Given the description of an element on the screen output the (x, y) to click on. 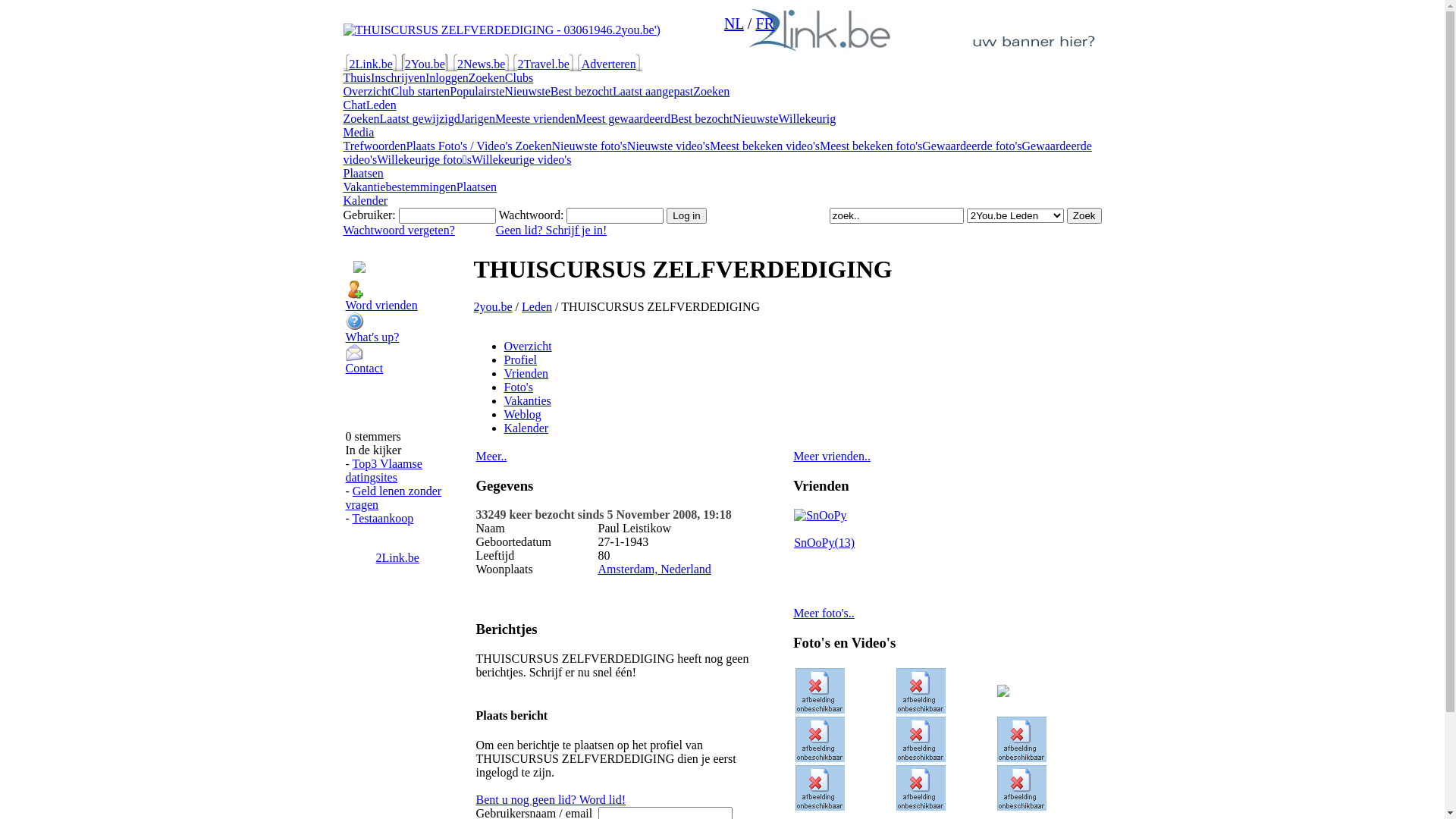
Clubs Element type: text (519, 77)
Overzicht Element type: text (527, 345)
SnOoPy(13) Element type: text (823, 542)
Best bezocht Element type: text (581, 90)
Overzicht Element type: text (366, 90)
Kalender Element type: text (364, 200)
Chat Element type: text (353, 104)
Meeste vrienden Element type: text (535, 118)
Wachtwoord vergeten? Element type: text (398, 229)
Weblog Element type: text (521, 413)
Jarigen Element type: text (477, 118)
Leden Element type: text (381, 104)
Geld lenen zonder vragen Element type: text (393, 497)
Willekeurige video's Element type: text (521, 159)
What's up? Element type: text (407, 342)
Leden Element type: text (536, 306)
Geen lid? Schrijf je in! Element type: text (551, 229)
Thuis Element type: text (356, 77)
Best bezocht Element type: text (701, 118)
Zoek Element type: text (1083, 215)
Amsterdam, Nederland Element type: text (654, 568)
Populairste Element type: text (476, 90)
2Link.be Element type: text (397, 557)
Log in Element type: text (686, 215)
Bent u nog geen lid? Word lid! Element type: text (551, 799)
Nieuwste foto's Element type: text (589, 145)
Zoeken Element type: text (486, 77)
Gewaardeerde foto's Element type: text (971, 145)
Meest gewaardeerd Element type: text (622, 118)
2Link.be Element type: text (370, 63)
Willekeurig Element type: text (807, 118)
Meest bekeken foto's Element type: text (870, 145)
Club starten Element type: text (420, 90)
Media Element type: text (357, 131)
Laatst aangepast Element type: text (652, 90)
Vrienden Element type: text (525, 373)
Laatst gewijzigd Element type: text (419, 118)
2Travel.be Element type: text (542, 63)
Zoeken Element type: text (533, 145)
Kalender Element type: text (525, 427)
Zoeken Element type: text (711, 90)
Nieuwste video's Element type: text (668, 145)
2you.be Element type: text (492, 306)
Word vrienden Element type: text (407, 310)
Plaatsen Element type: text (362, 172)
Meer vrienden.. Element type: text (831, 455)
NL Element type: text (733, 23)
Contact Element type: text (407, 369)
Foto's Element type: text (517, 386)
Zoeken Element type: text (360, 118)
Plaats Foto's / Video's Element type: text (459, 145)
Vakantiebestemmingen Element type: text (398, 186)
2You.be Element type: text (424, 63)
2News.be Element type: text (481, 63)
Meer.. Element type: text (491, 455)
Trefwoorden Element type: text (373, 145)
Testaankoop Element type: text (383, 517)
Vakanties Element type: text (526, 400)
Nieuwste Element type: text (755, 118)
Nieuwste Element type: text (526, 90)
Plaatsen Element type: text (476, 186)
Inschrijven Element type: text (397, 77)
Meer foto's.. Element type: text (823, 612)
Profiel Element type: text (519, 359)
FR Element type: text (764, 23)
Meest bekeken video's Element type: text (764, 145)
Adverteren Element type: text (608, 63)
Gewaardeerde video's Element type: text (716, 152)
Inloggen Element type: text (446, 77)
Top3 Vlaamse datingsites Element type: text (383, 470)
